Given the description of an element on the screen output the (x, y) to click on. 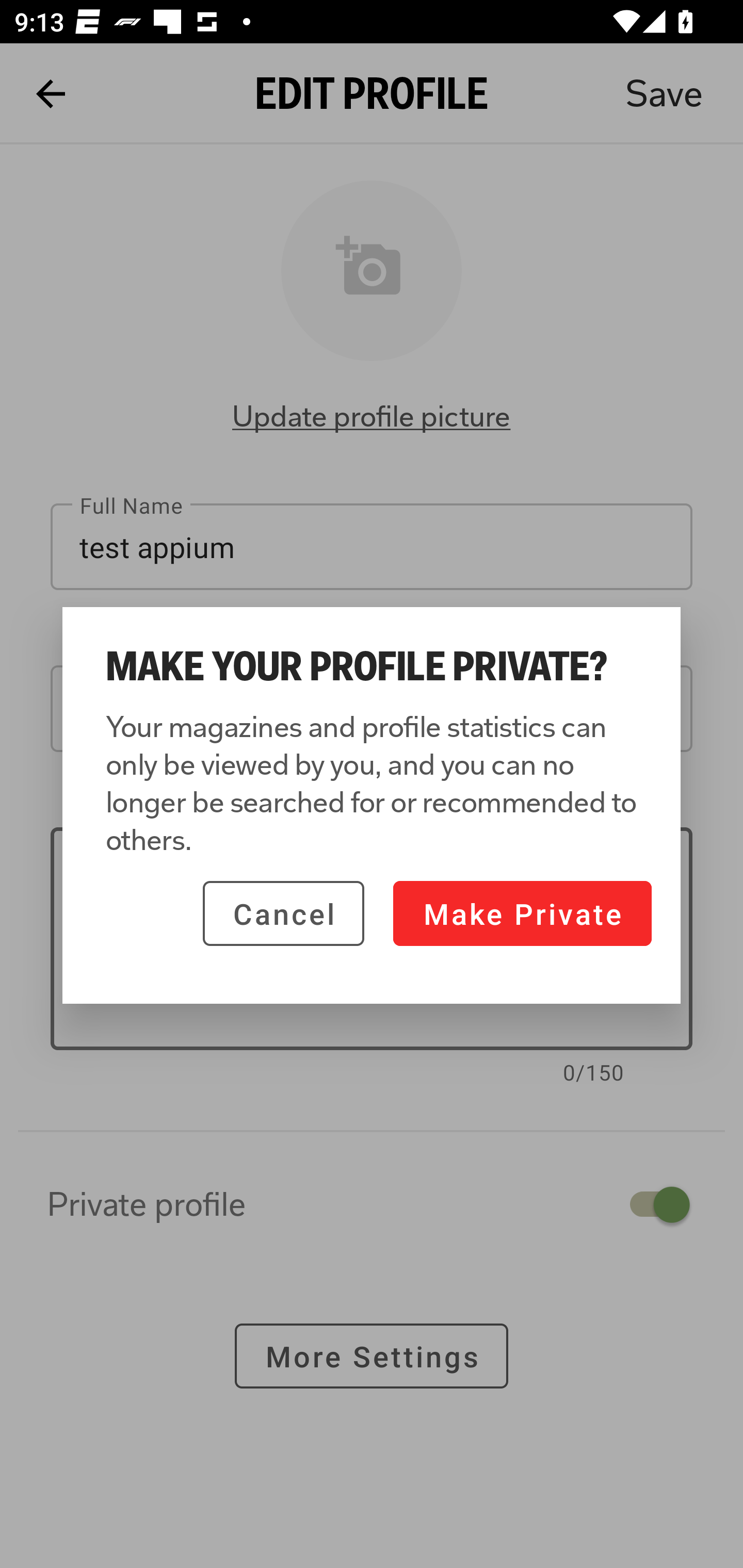
Cancel (283, 913)
Make Private (522, 913)
